Given the description of an element on the screen output the (x, y) to click on. 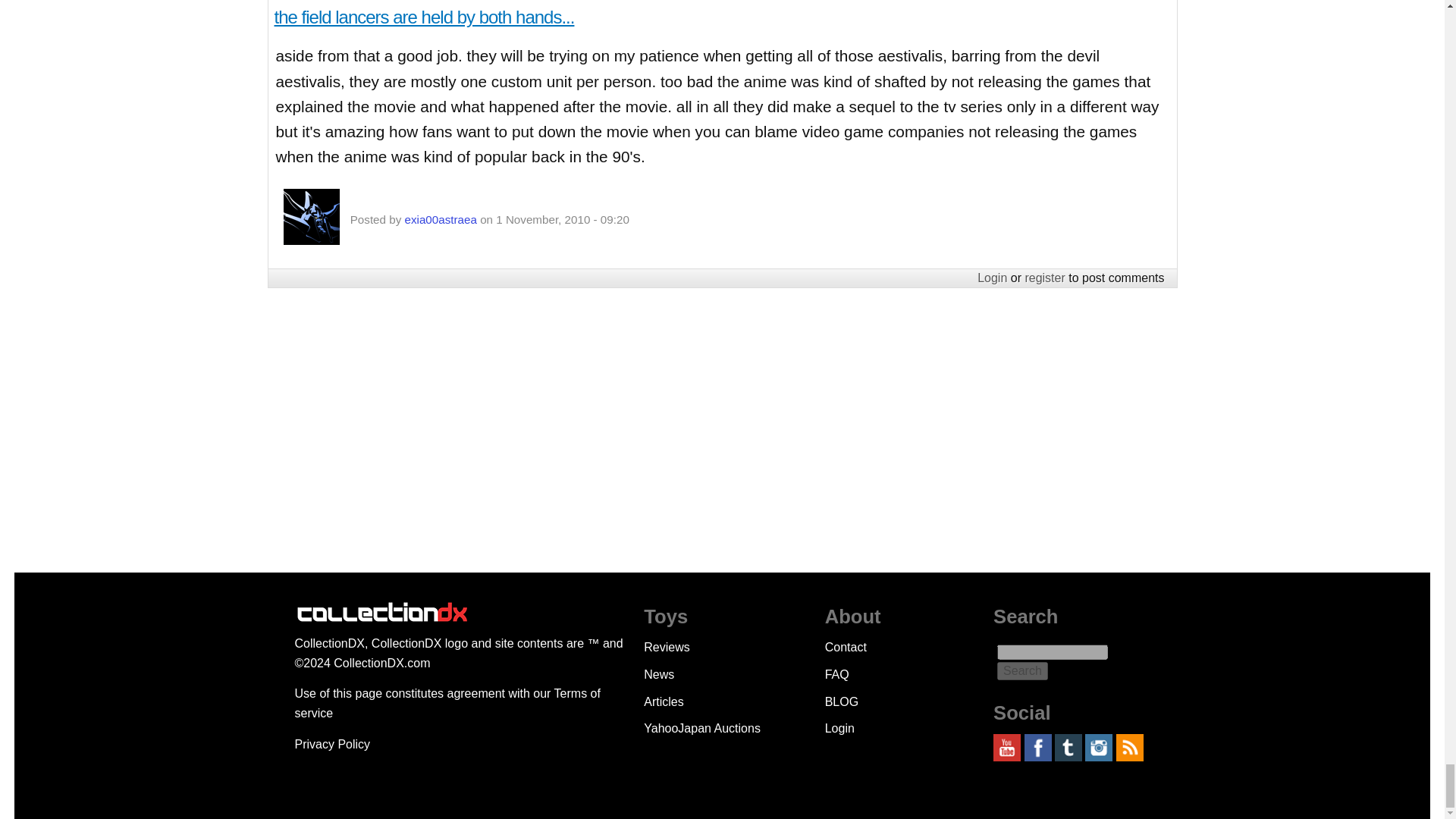
Search (1022, 670)
